Given the description of an element on the screen output the (x, y) to click on. 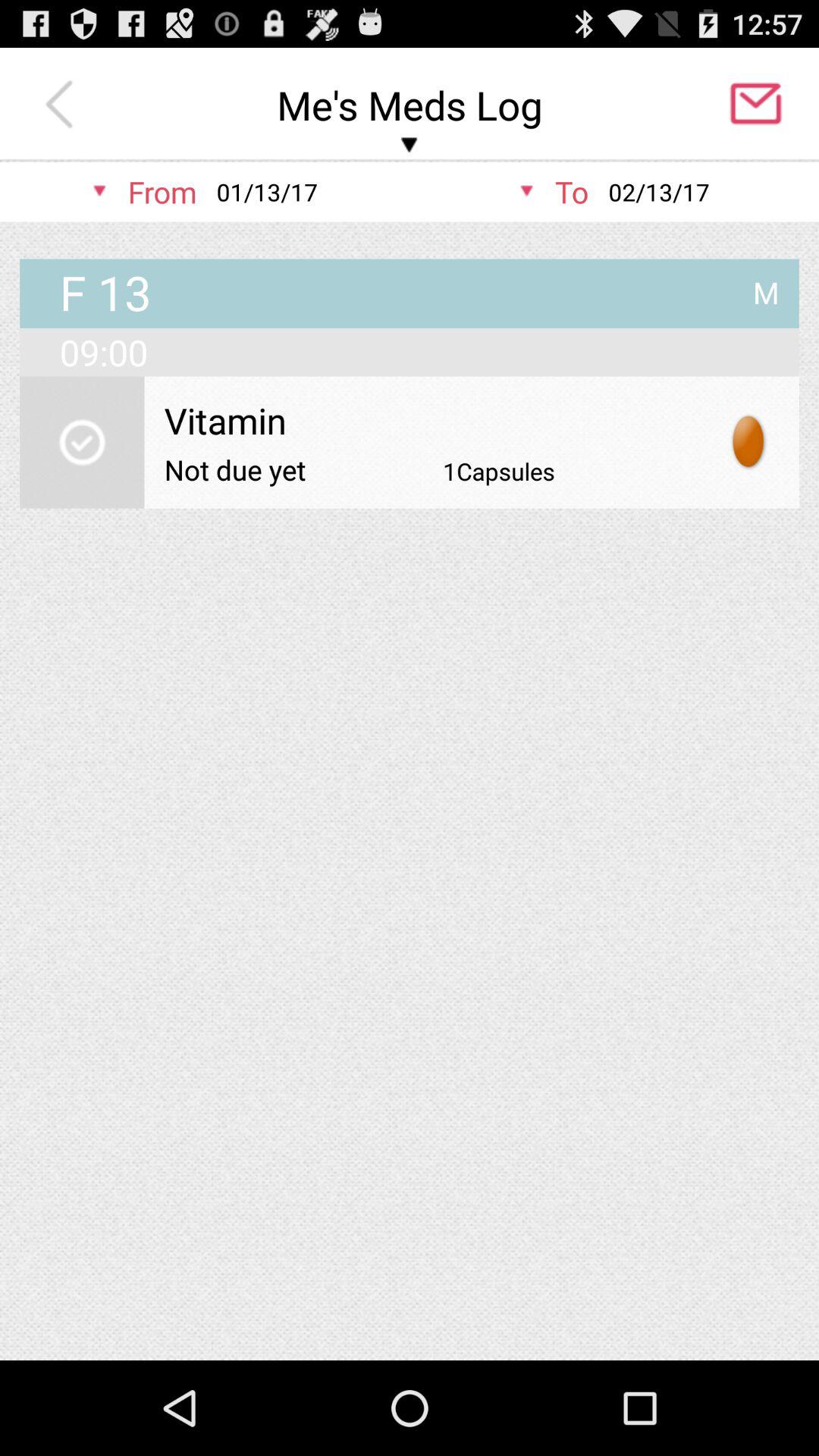
jump until 1capsules app (499, 471)
